Given the description of an element on the screen output the (x, y) to click on. 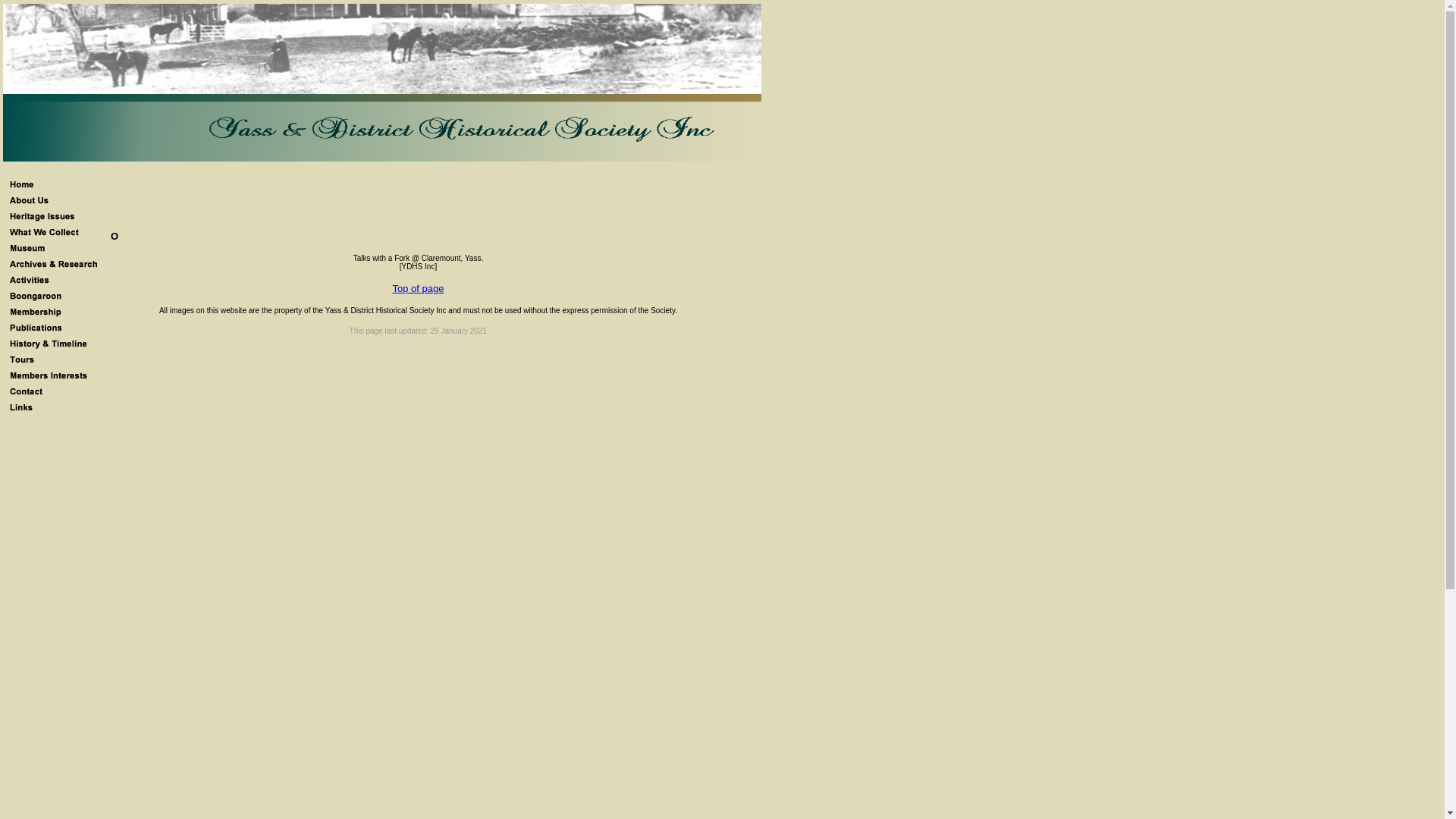
Top of page Element type: text (417, 288)
